Given the description of an element on the screen output the (x, y) to click on. 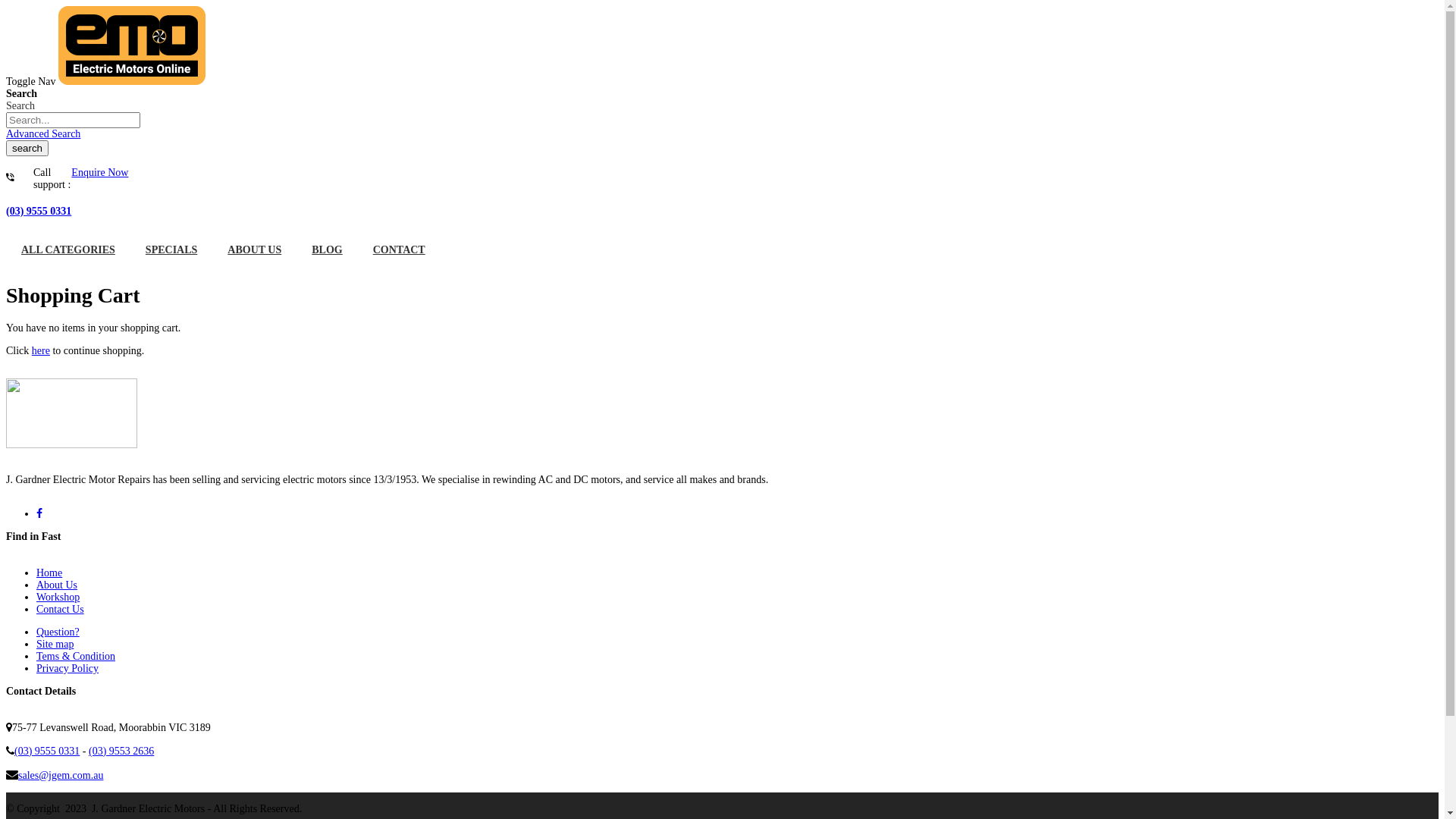
Home Element type: text (49, 572)
(03) 9553 2636 Element type: text (120, 750)
Tems & Condition Element type: text (75, 656)
Privacy Policy Element type: text (67, 668)
(03) 9555 0331 Element type: text (38, 210)
SPECIALS Element type: text (171, 249)
(03) 9555 0331 Element type: text (46, 750)
sales@jgem.com.au Element type: text (60, 775)
Contact Us Element type: text (60, 609)
Enquire Now Element type: text (99, 172)
search Element type: text (27, 148)
About Us Element type: text (56, 584)
ALL CATEGORIES Element type: text (68, 249)
ABOUT US Element type: text (254, 249)
BLOG Element type: text (326, 249)
Question? Element type: text (57, 631)
Workshop Element type: text (57, 596)
Facebook Element type: hover (39, 513)
Electric Motors Online Element type: hover (131, 81)
Advanced Search Element type: text (43, 133)
Site map Element type: text (54, 643)
CONTACT Element type: text (398, 249)
here Element type: text (40, 350)
